Given the description of an element on the screen output the (x, y) to click on. 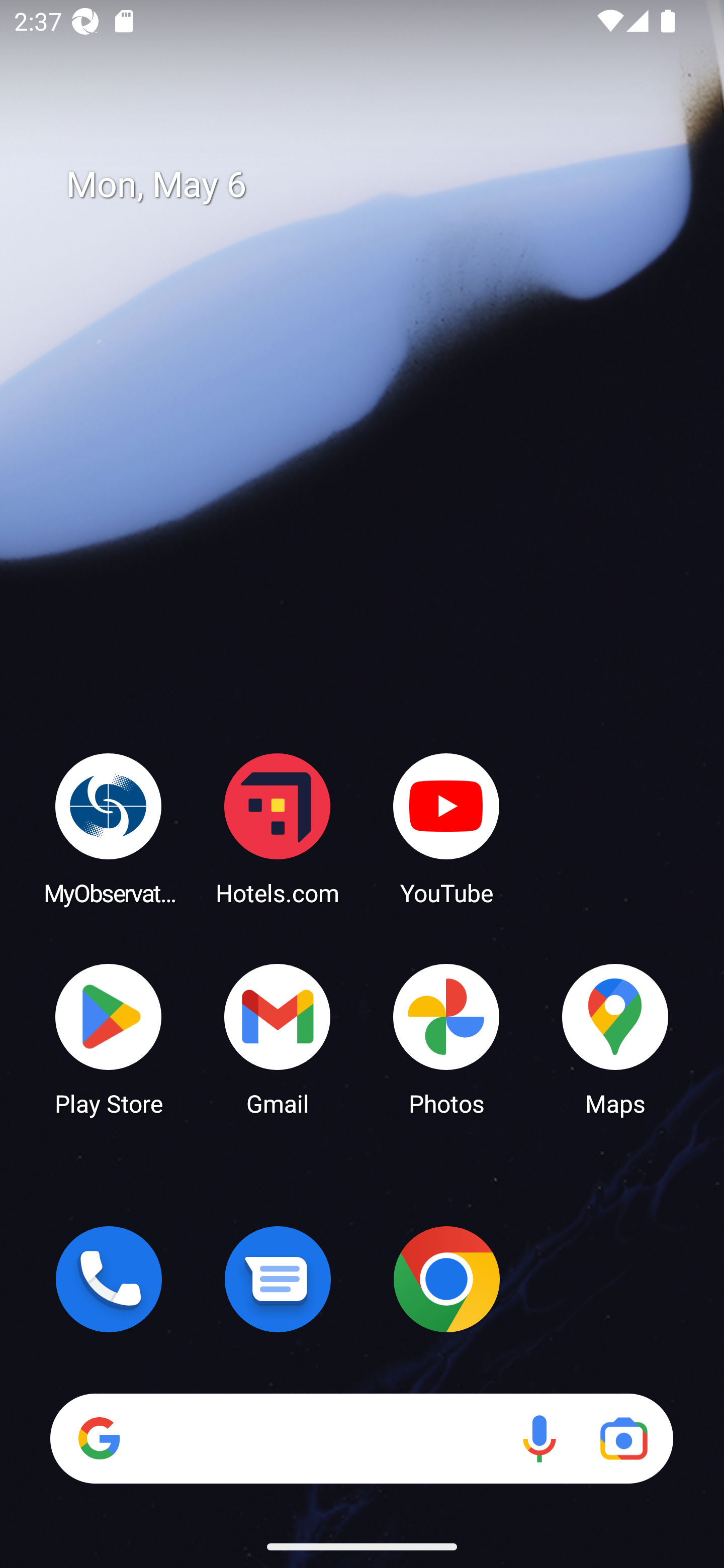
Mon, May 6 (375, 184)
MyObservatory (108, 828)
Hotels.com (277, 828)
YouTube (445, 828)
Play Store (108, 1038)
Gmail (277, 1038)
Photos (445, 1038)
Maps (615, 1038)
Phone (108, 1279)
Messages (277, 1279)
Chrome (446, 1279)
Search Voice search Google Lens (361, 1438)
Voice search (539, 1438)
Google Lens (623, 1438)
